Given the description of an element on the screen output the (x, y) to click on. 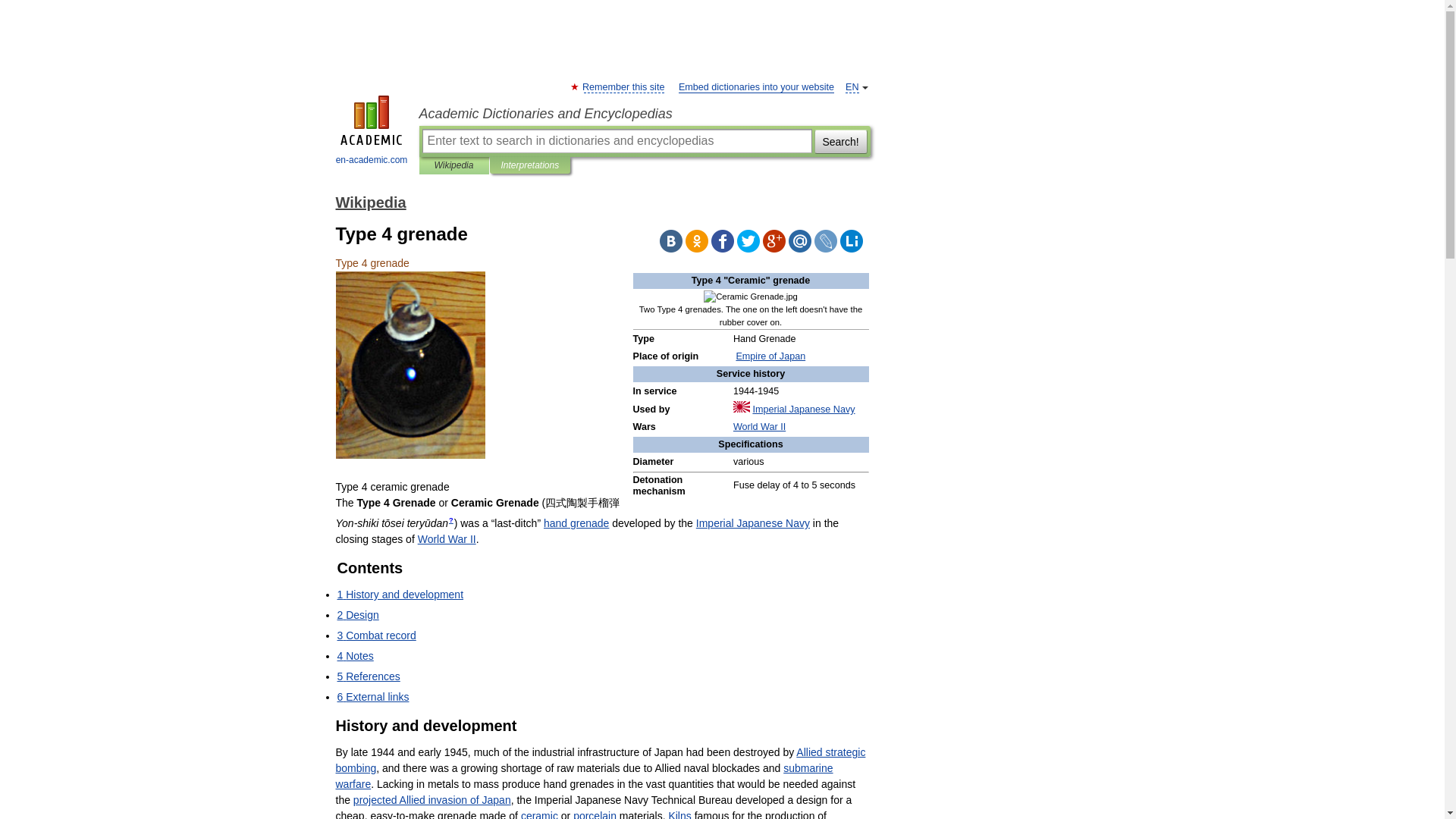
World War II (759, 426)
en-academic.com (371, 131)
Imperial Japanese Navy (752, 522)
hand grenade (575, 522)
5 References (367, 676)
1 History and development (399, 594)
4 Notes (354, 655)
Interpretations (529, 165)
Remember this site (623, 87)
World War II (446, 539)
Imperial Japanese Navy (803, 409)
Empire of Japan (770, 356)
Wikipedia (370, 202)
Academic Dictionaries and Encyclopedias (644, 114)
3 Combat record (375, 635)
